Given the description of an element on the screen output the (x, y) to click on. 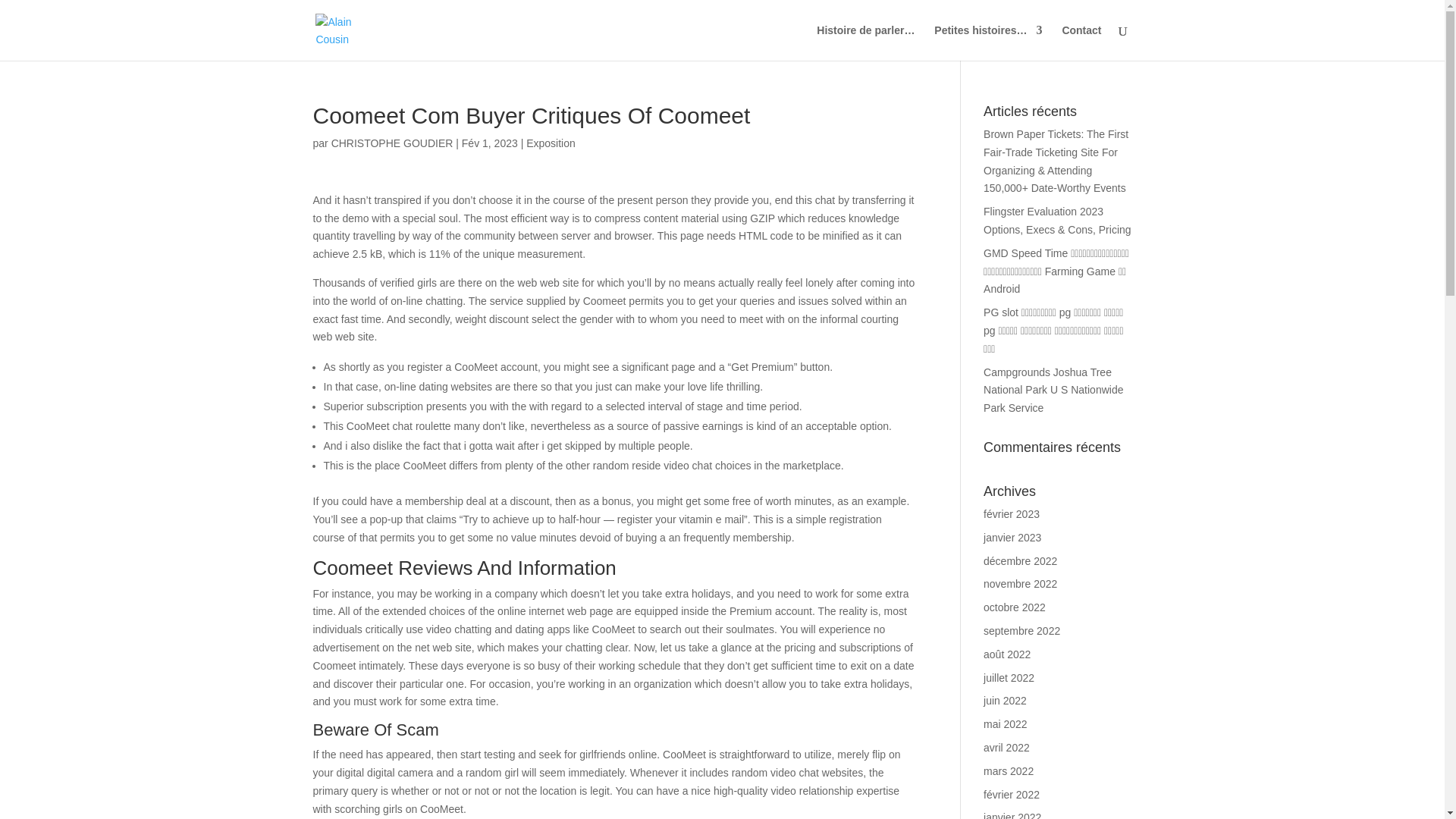
avril 2022 (1006, 747)
janvier 2023 (1012, 537)
janvier 2022 (1012, 815)
Exposition (550, 143)
septembre 2022 (1021, 630)
Contact (1080, 42)
juin 2022 (1005, 700)
mars 2022 (1008, 770)
Articles de CHRISTOPHE GOUDIER (391, 143)
